Given the description of an element on the screen output the (x, y) to click on. 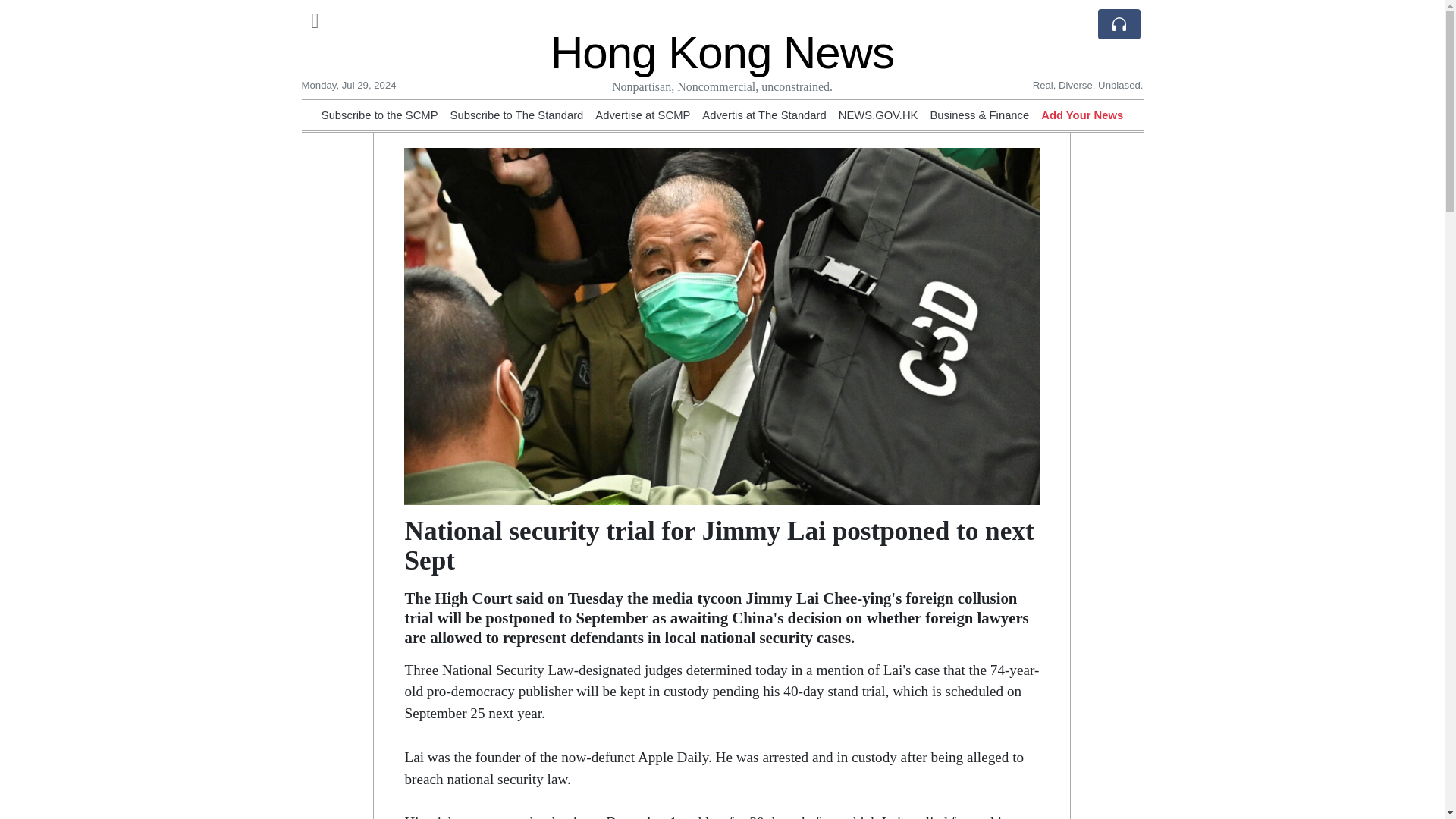
Add Your News (1081, 114)
Subscribe to the SCMP (379, 114)
Advertis at The Standard (763, 114)
NEWS.GOV.HK (878, 114)
Advertise at SCMP (642, 114)
Subscribe to The Standard (516, 114)
Hong Kong News (721, 52)
